Given the description of an element on the screen output the (x, y) to click on. 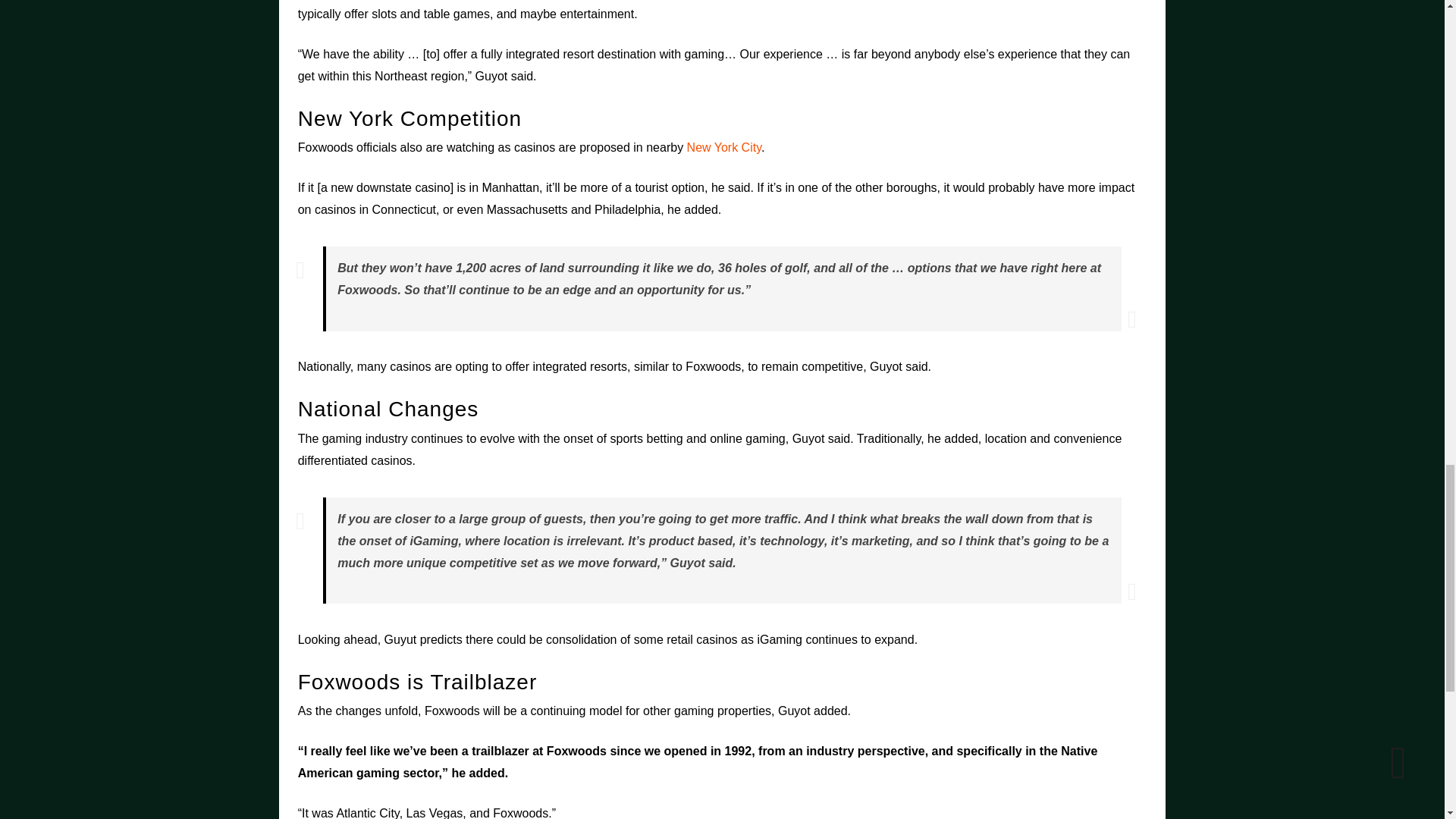
New York City (724, 146)
